Given the description of an element on the screen output the (x, y) to click on. 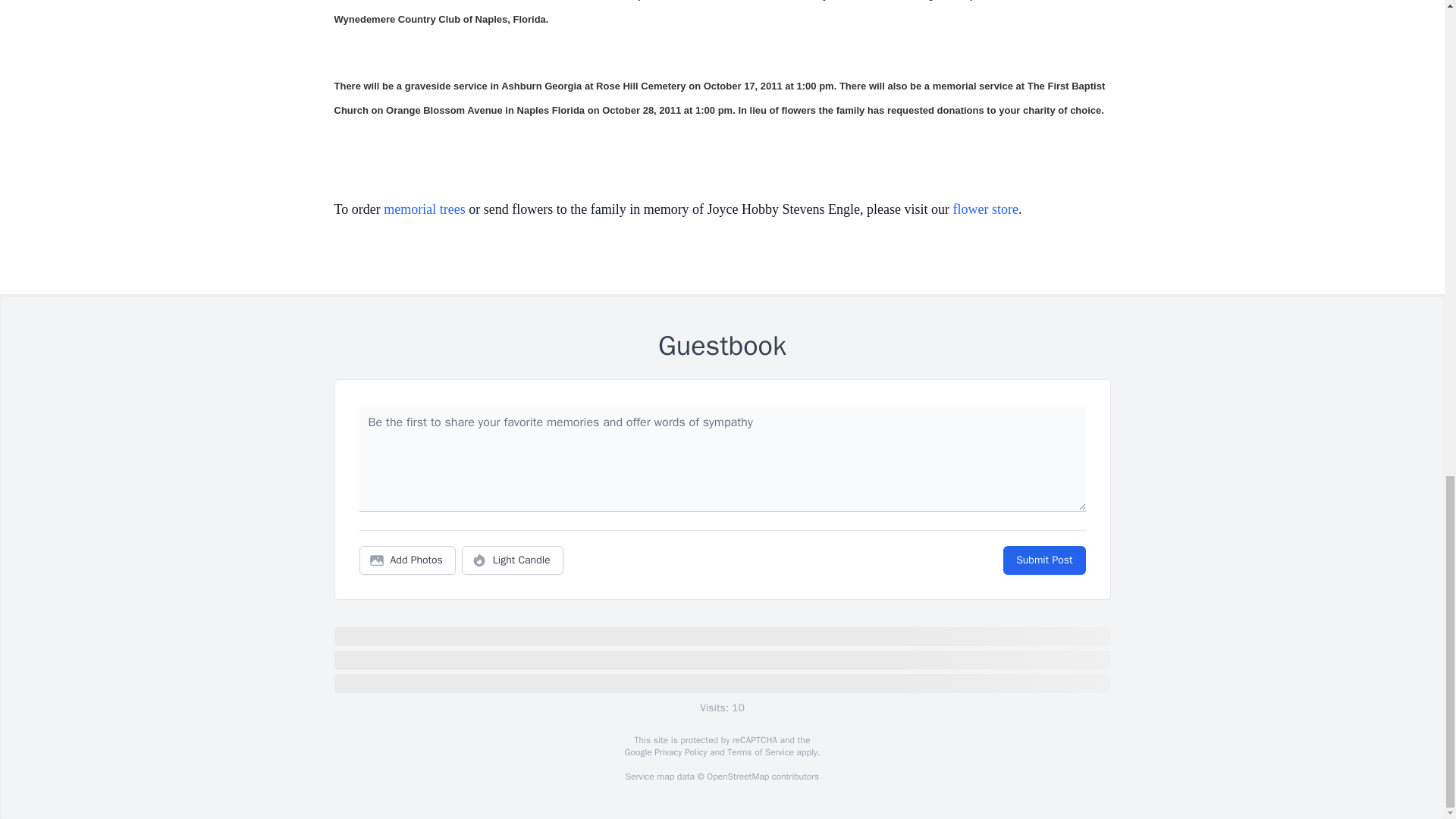
Submit Post (1043, 560)
flower store (985, 209)
Privacy Policy (679, 752)
OpenStreetMap (737, 776)
Light Candle (512, 560)
memorial trees (424, 209)
Add Photos (407, 560)
Terms of Service (759, 752)
